Given the description of an element on the screen output the (x, y) to click on. 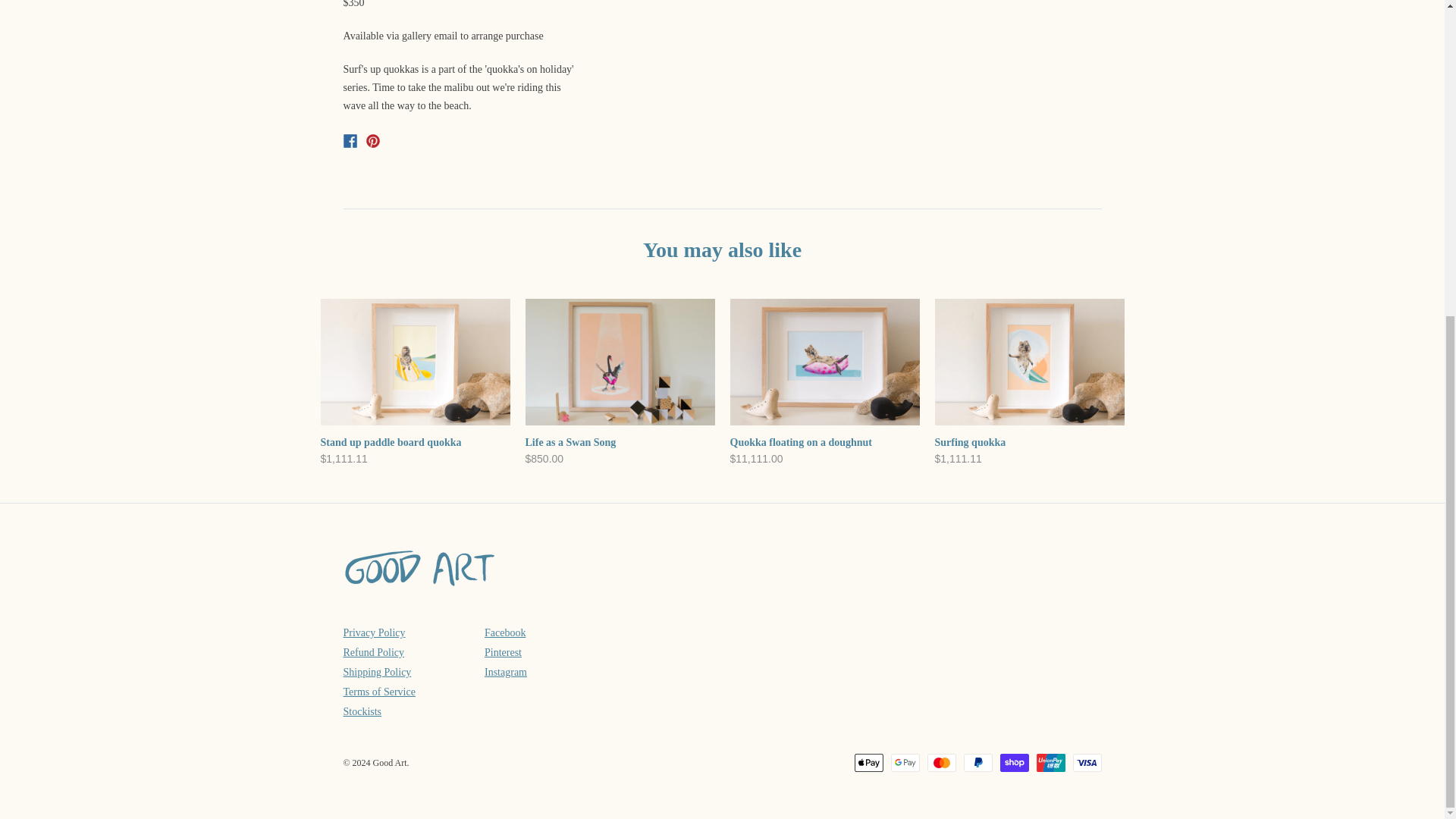
Mastercard (940, 762)
Union Pay (1049, 762)
Google Pay (903, 762)
Shop Pay (1012, 762)
PayPal (976, 762)
Apple Pay (867, 762)
Visa (1085, 762)
